Given the description of an element on the screen output the (x, y) to click on. 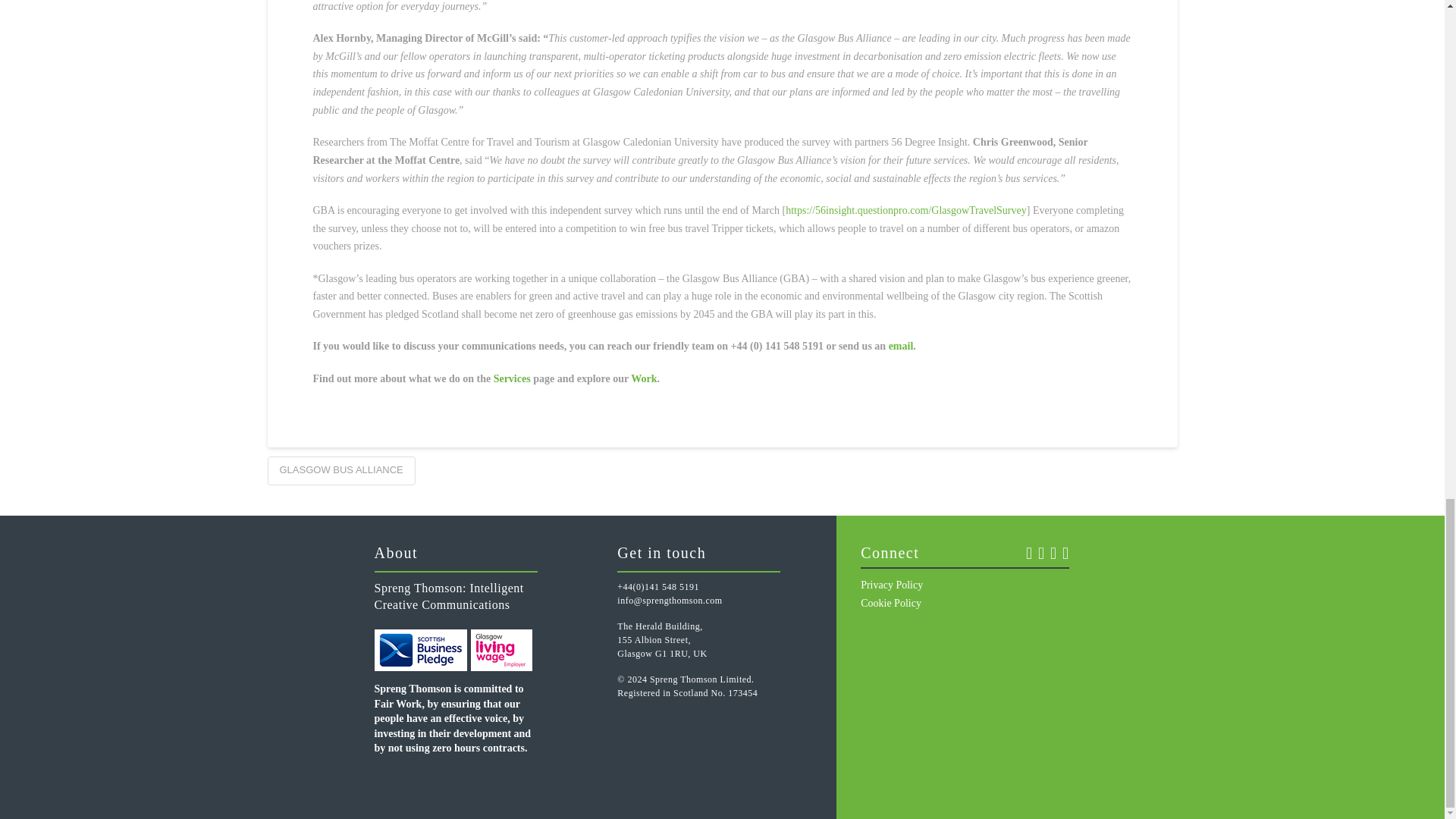
GLASGOW BUS ALLIANCE (340, 470)
Work (643, 378)
email (901, 346)
Services (512, 378)
